Given the description of an element on the screen output the (x, y) to click on. 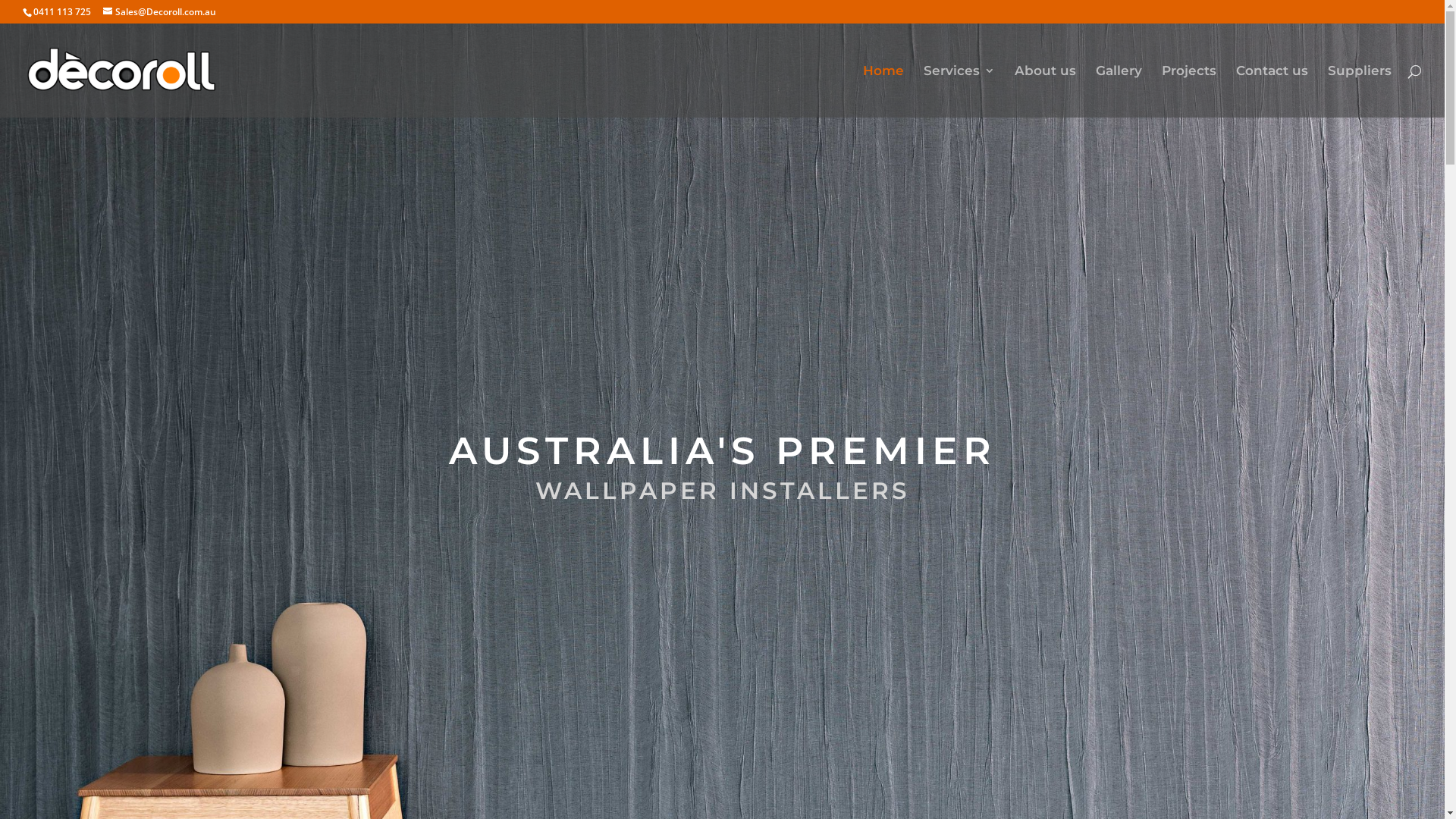
About us Element type: text (1045, 91)
Services Element type: text (958, 91)
Projects Element type: text (1188, 91)
Contact us Element type: text (1272, 91)
Gallery Element type: text (1118, 91)
Sales@Decoroll.com.au Element type: text (159, 11)
Home Element type: text (882, 91)
Suppliers Element type: text (1359, 91)
